Given the description of an element on the screen output the (x, y) to click on. 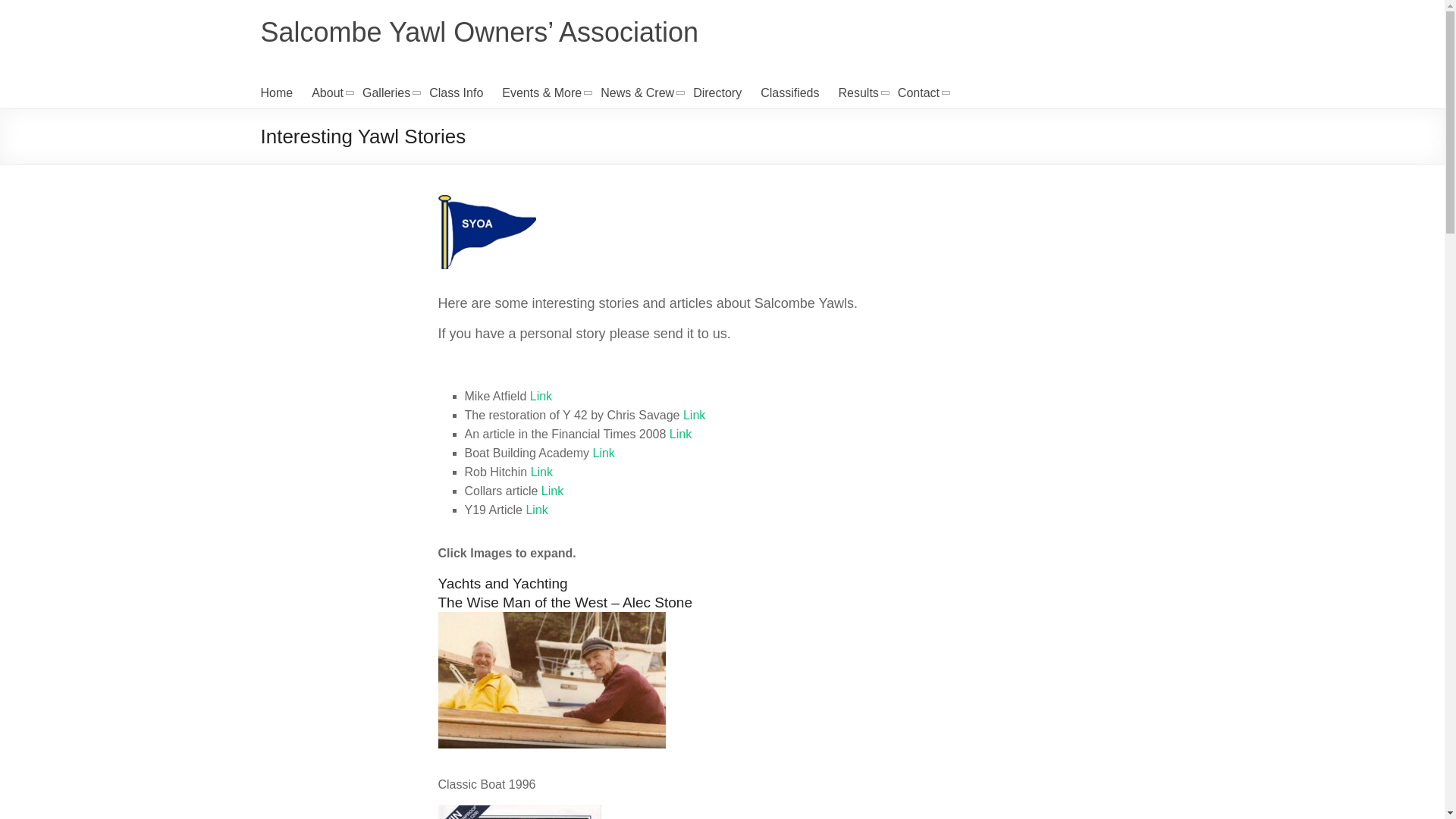
Galleries (386, 92)
Link (540, 395)
Classifieds (789, 92)
Home (277, 92)
Directory (717, 92)
Link (693, 414)
About (327, 92)
flag.JPG (486, 231)
Results (858, 92)
Contact (918, 92)
Class Info (456, 92)
